Given the description of an element on the screen output the (x, y) to click on. 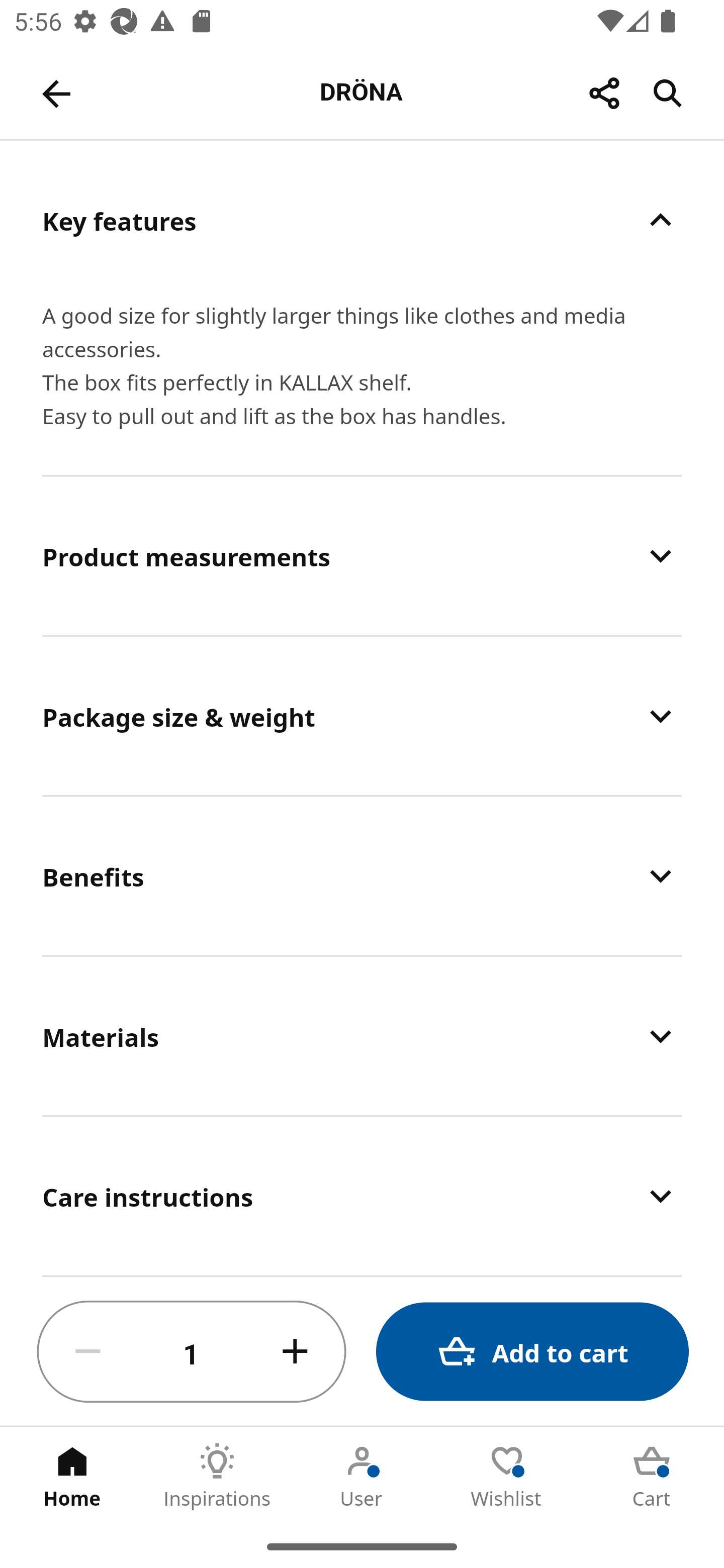
Key features (361, 219)
Product measurements (361, 555)
Package size & weight (361, 715)
Benefits (361, 875)
Materials (361, 1036)
Care instructions (361, 1195)
Add to cart (531, 1352)
1 (191, 1352)
Home
Tab 1 of 5 (72, 1476)
Inspirations
Tab 2 of 5 (216, 1476)
User
Tab 3 of 5 (361, 1476)
Wishlist
Tab 4 of 5 (506, 1476)
Cart
Tab 5 of 5 (651, 1476)
